Given the description of an element on the screen output the (x, y) to click on. 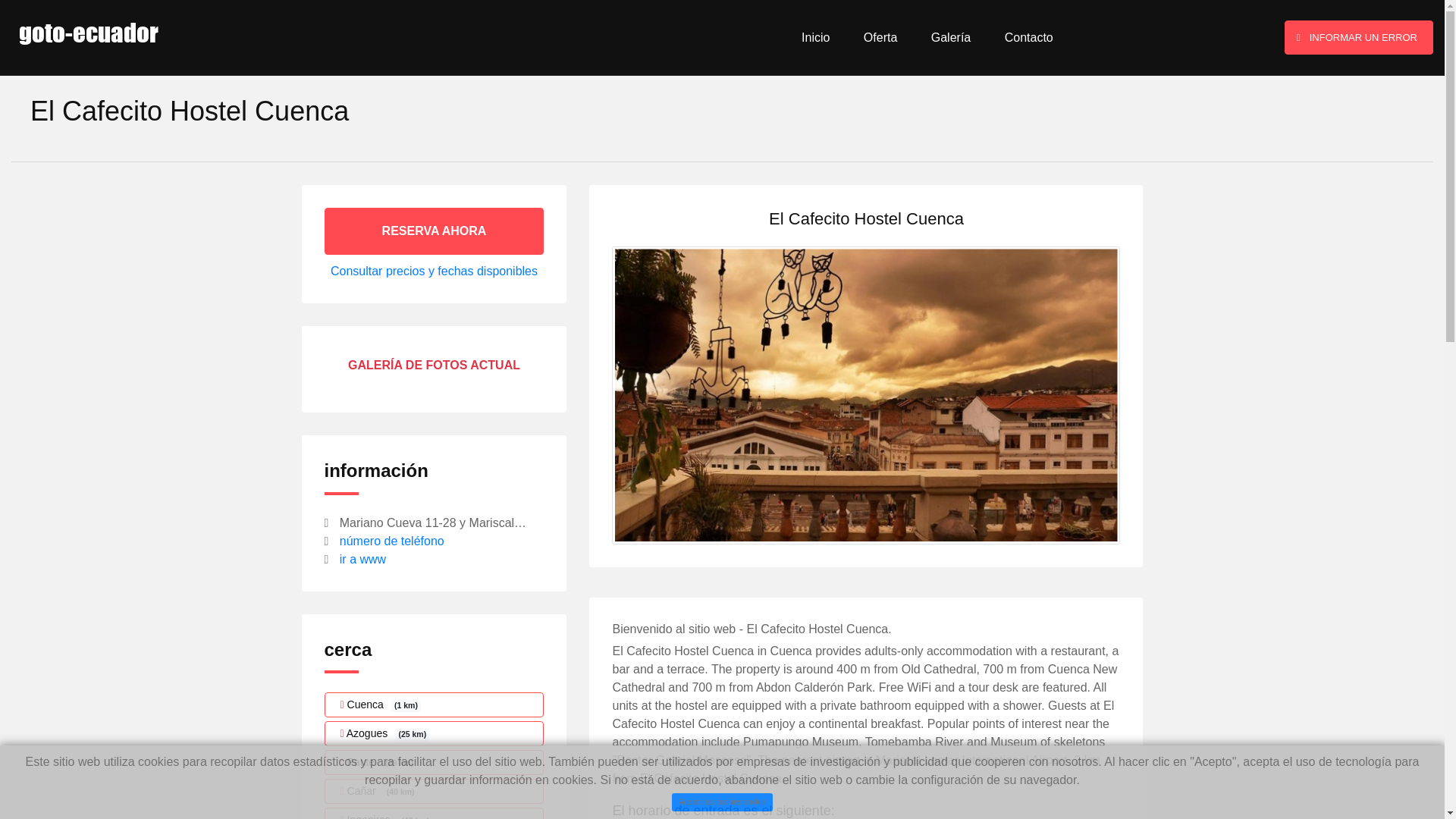
Alojamiento Azogues (434, 733)
ir a www (362, 558)
INFORMAR UN ERROR (1358, 37)
RESERVA AHORA (434, 231)
Consultar precios y fechas disponibles (433, 270)
Alojamiento Cuenca (434, 704)
Alojamiento Ingapirca (434, 813)
Acepto las cookies cookie (721, 802)
Alojamiento Paute (434, 762)
Contacto (1028, 37)
